Given the description of an element on the screen output the (x, y) to click on. 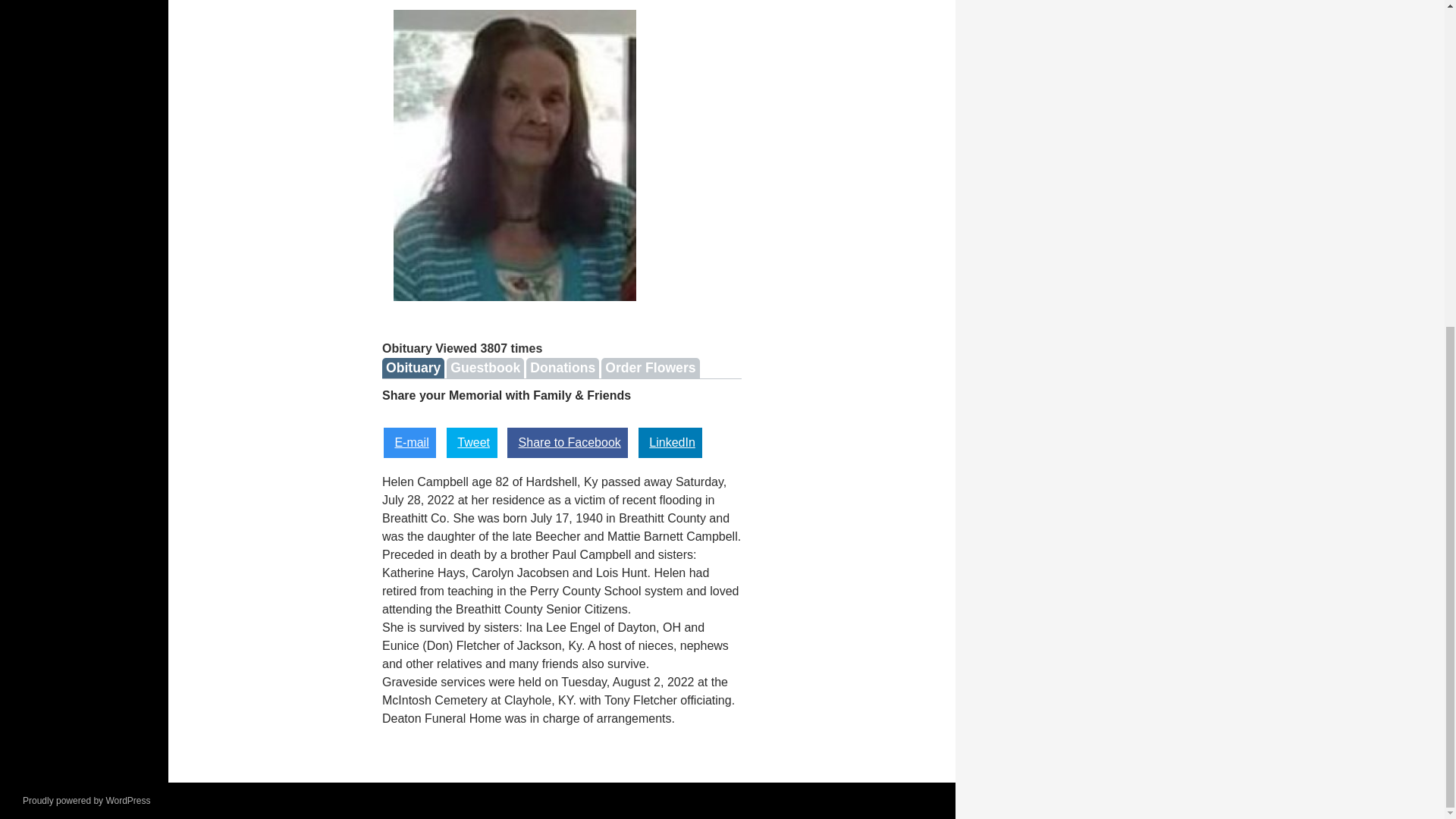
E-mail (409, 442)
Order Flowers (649, 367)
Obituary (412, 367)
Tweet (471, 442)
Share to Facebook (566, 442)
Guestbook (485, 367)
Donations (561, 367)
LinkedIn (670, 442)
Proudly powered by WordPress (87, 800)
